Given the description of an element on the screen output the (x, y) to click on. 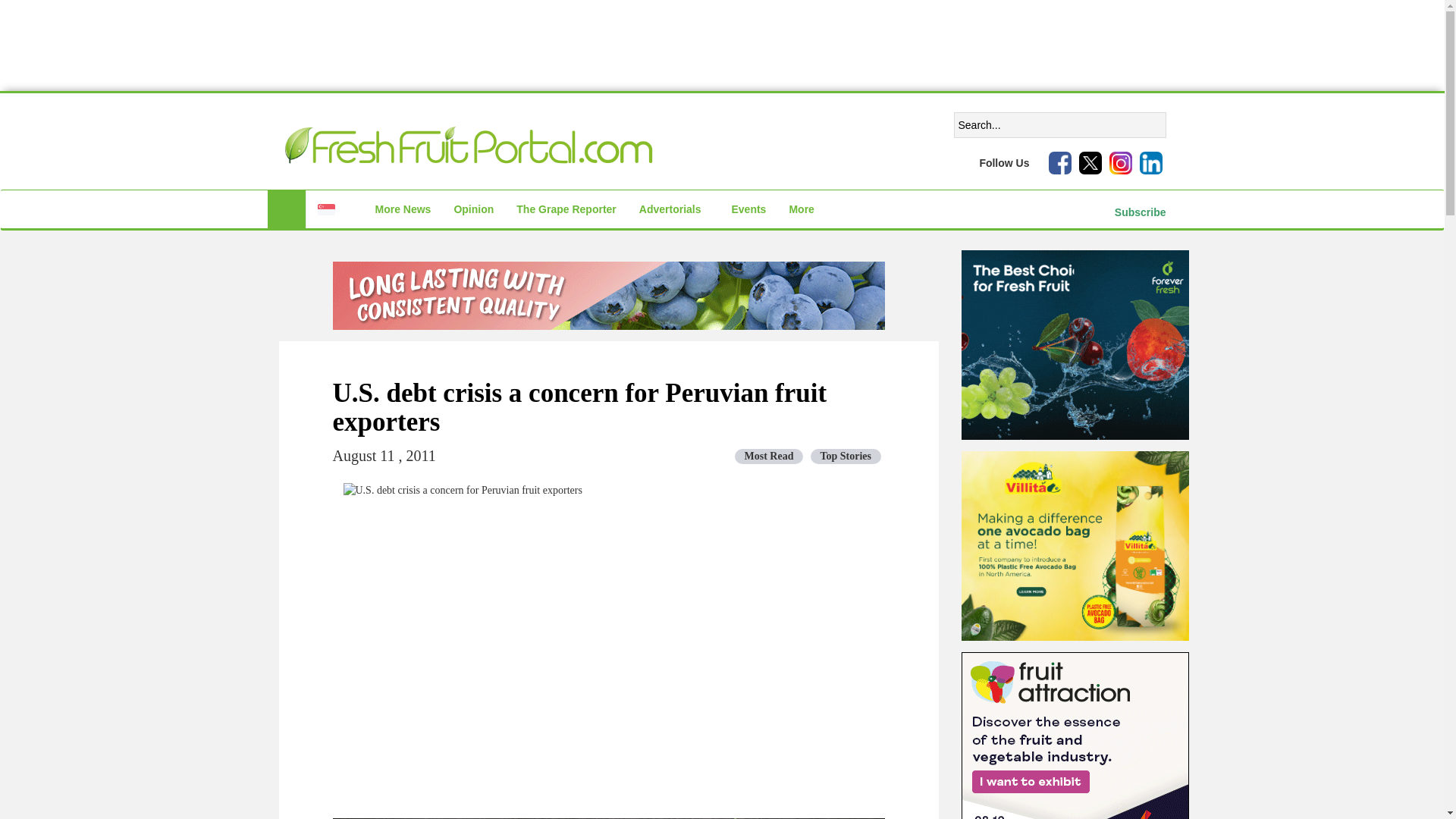
Nothing selected (333, 209)
Advertisement (333, 209)
U.S. debt crisis a concern for Peruvian fruit exporters (721, 45)
